Given the description of an element on the screen output the (x, y) to click on. 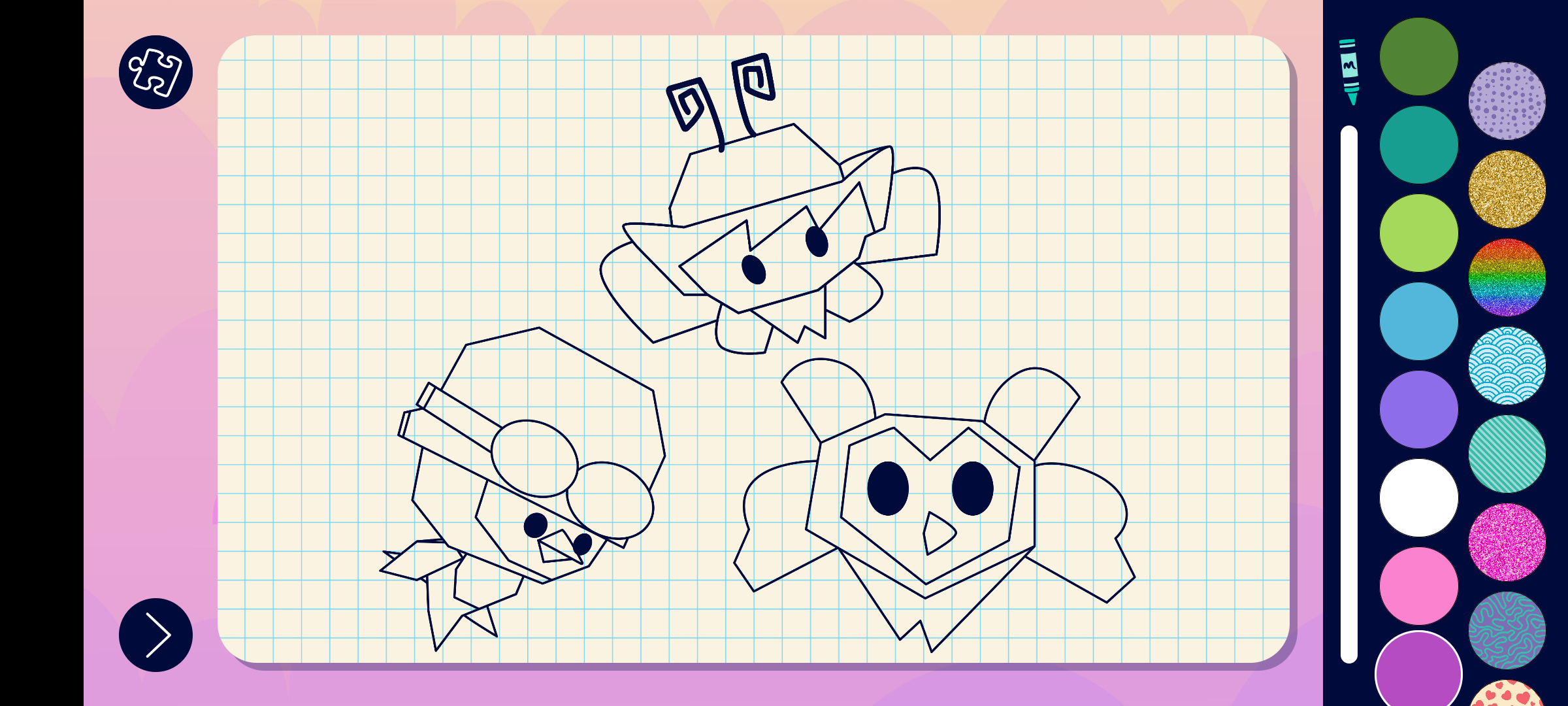
coloring background (1507, 101)
coloring background (1507, 189)
coloring background (1507, 277)
coloring background (1507, 365)
coloring background (1507, 454)
coloring background (1507, 542)
coloring background (1507, 630)
